Given the description of an element on the screen output the (x, y) to click on. 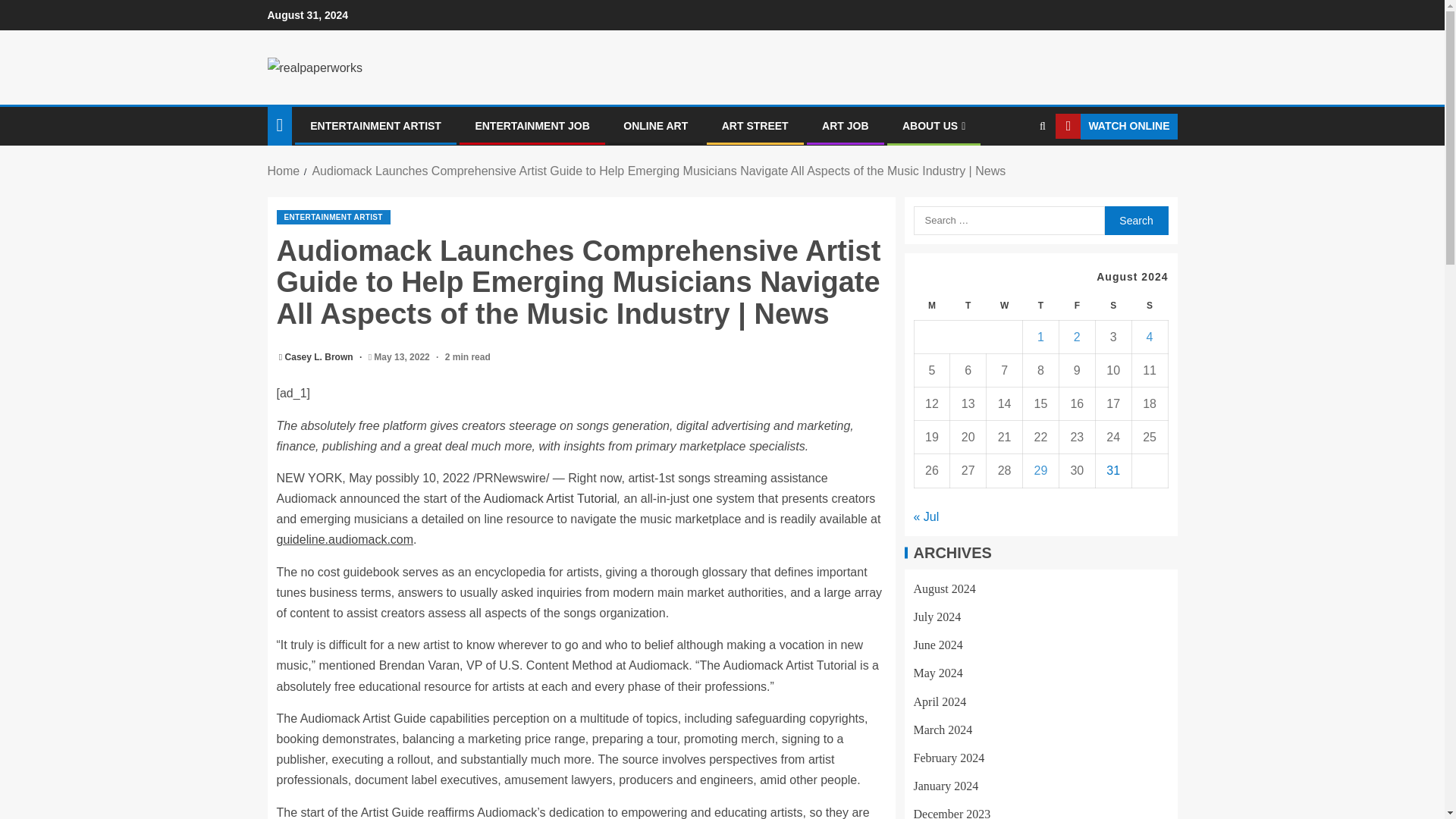
Search (1013, 172)
Wednesday (1005, 305)
Search (1135, 220)
Sunday (1149, 305)
guideline.audiomack.com (344, 539)
ART STREET (755, 125)
Audiomack Artist Tutorial (550, 498)
Home (282, 170)
Casey L. Brown (320, 357)
ABOUT US (933, 125)
